Given the description of an element on the screen output the (x, y) to click on. 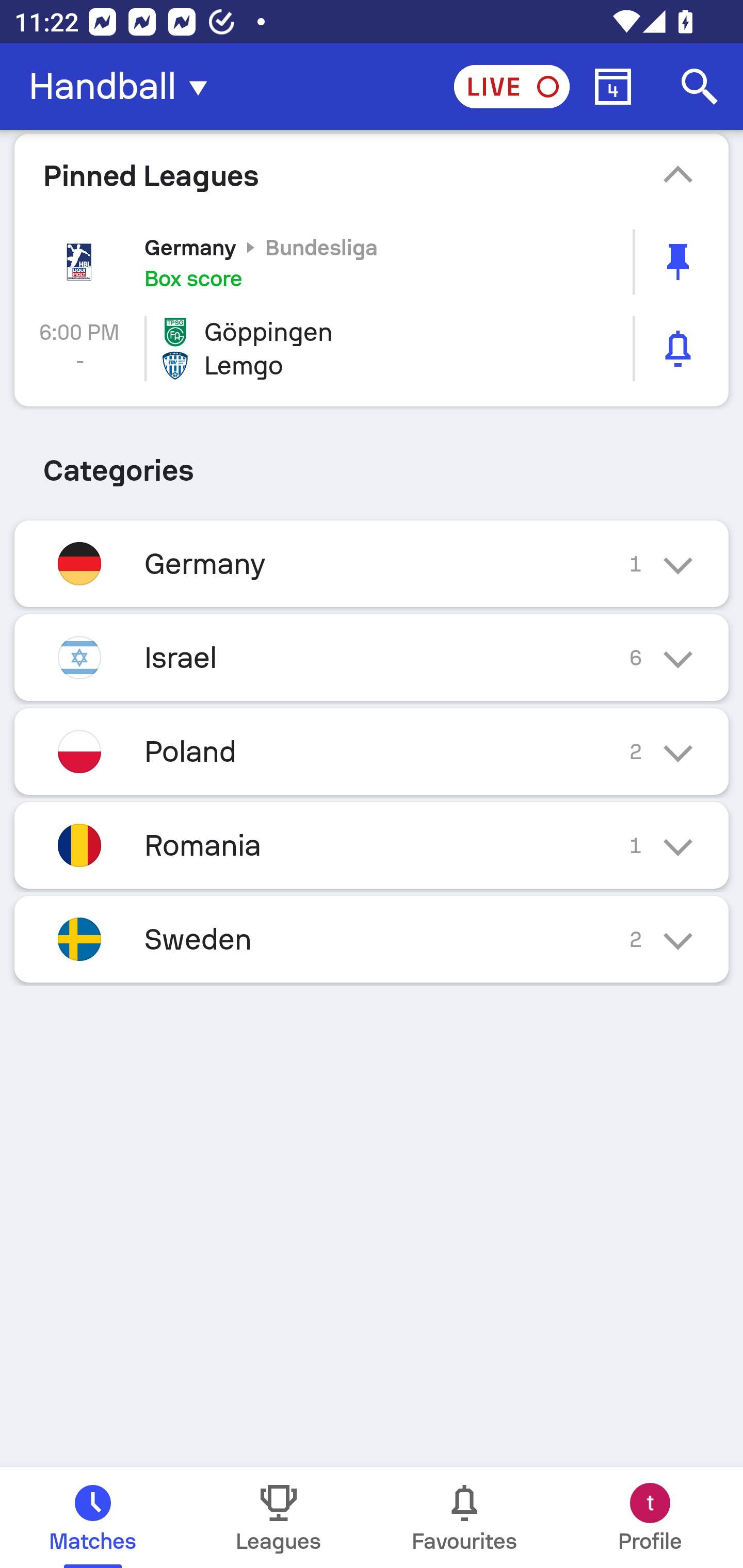
Handball (124, 86)
Calendar (612, 86)
Search (699, 86)
Pinned Leagues (371, 175)
Germany Bundesliga Box score (371, 261)
6:00 PM - Göppingen Lemgo (371, 348)
Categories (371, 463)
Germany 1 (371, 563)
Israel 6 (371, 657)
Poland 2 (371, 751)
Romania 1 (371, 845)
Sweden 2 (371, 939)
Leagues (278, 1517)
Favourites (464, 1517)
Profile (650, 1517)
